Given the description of an element on the screen output the (x, y) to click on. 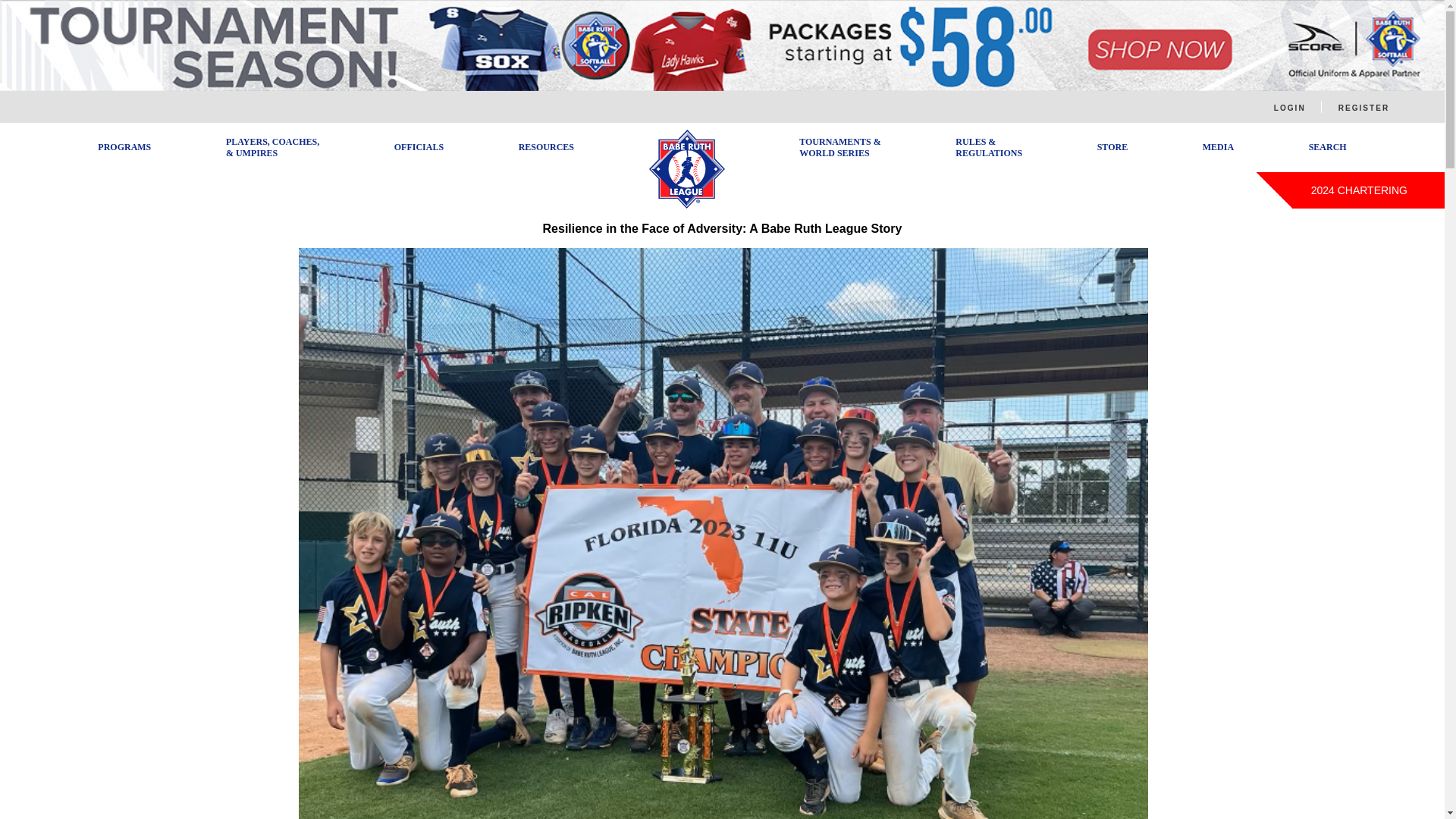
OFFICIALS (419, 146)
REGISTER (1363, 107)
PROGRAMS (124, 146)
LOGIN (1289, 107)
